Given the description of an element on the screen output the (x, y) to click on. 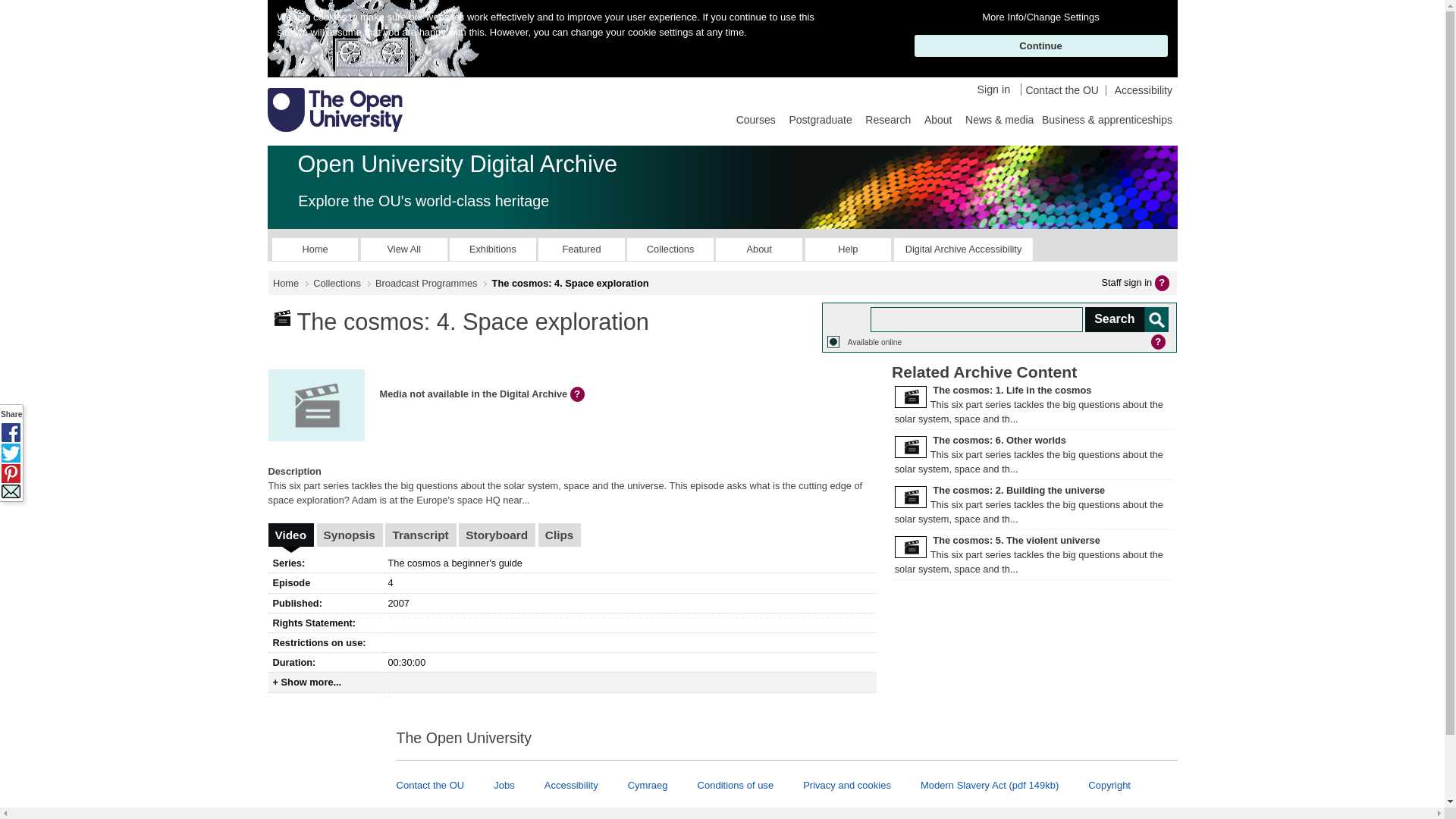
Home (315, 249)
opens in a new window (963, 249)
Video (290, 535)
help with signing in (1163, 282)
Search (1125, 319)
Collections (337, 283)
Postgraduate (820, 119)
Home (285, 283)
Help (848, 249)
View The cosmos: 6. Other worlds within the Digital Archive (999, 439)
Collections (670, 249)
Exhibitions (492, 249)
share this via Pinterest (10, 473)
